Given the description of an element on the screen output the (x, y) to click on. 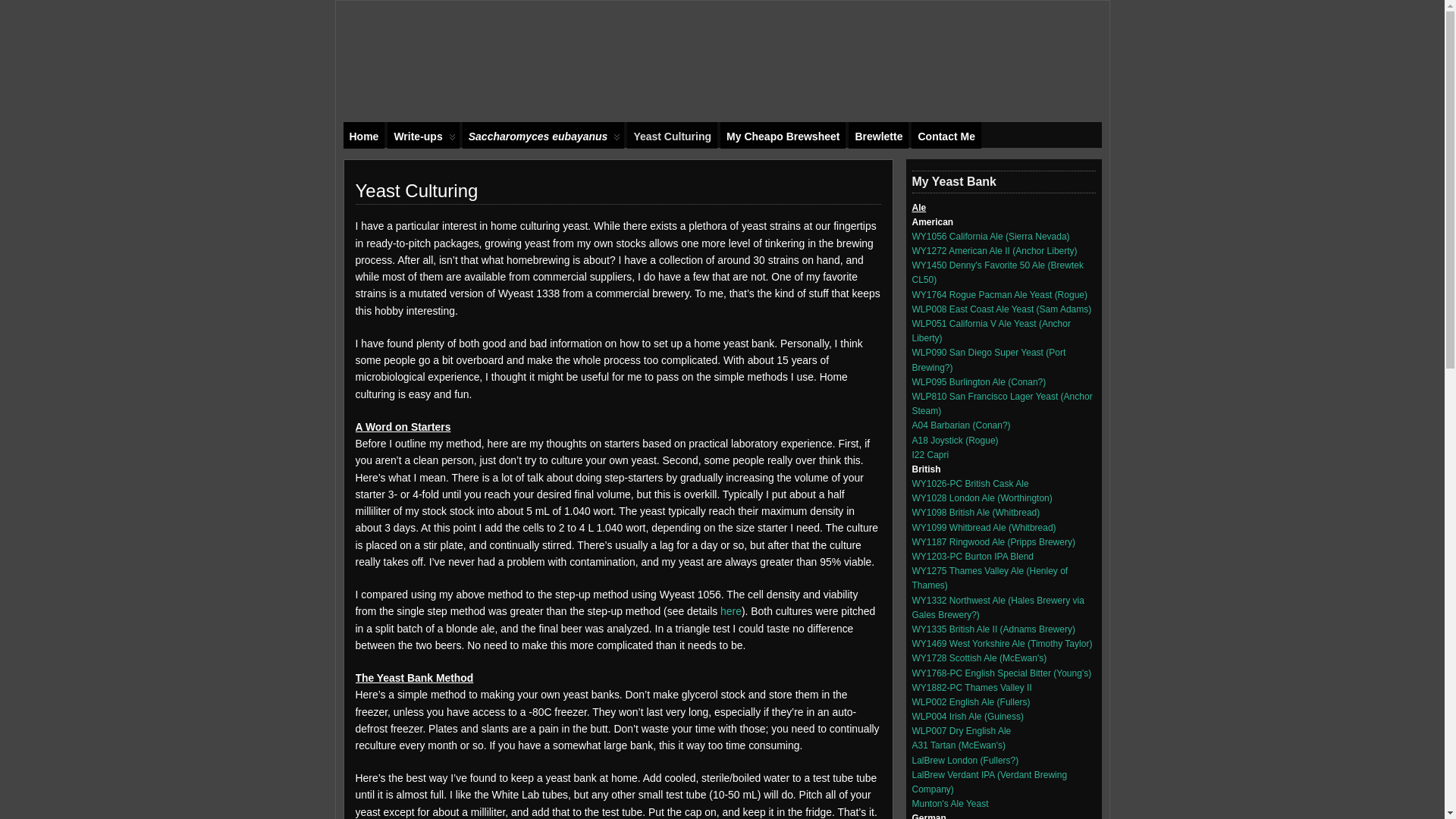
Contact Me (945, 135)
Yeast Culturing (672, 135)
WY1882-PC Thames Valley II (970, 687)
WY1203-PC Burton IPA Blend (972, 556)
Home (363, 135)
WY1026-PC British Cask Ale (969, 483)
Brewlette (878, 135)
 Write-ups (422, 135)
I22 Capri (930, 454)
here (730, 611)
 Saccharomyces eubayanus (543, 135)
My Cheapo Brewsheet (782, 135)
